Given the description of an element on the screen output the (x, y) to click on. 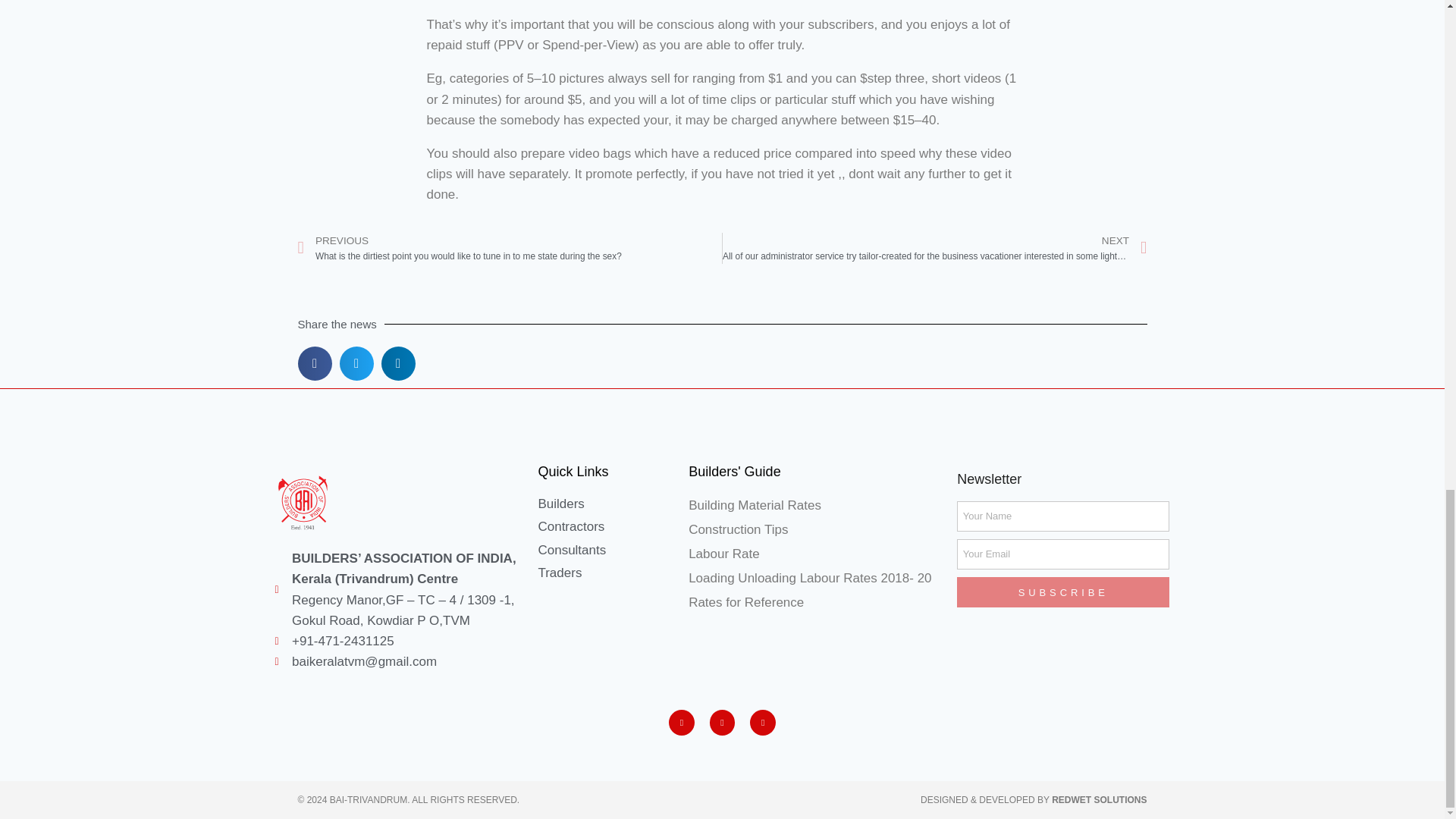
Construction Tips (818, 529)
Rates for Reference (818, 602)
Consultants (612, 549)
Building Material Rates (818, 505)
Builders (612, 503)
Loading Unloading Labour Rates 2018- 20 (818, 578)
Contractors (612, 526)
Traders (612, 572)
Labour Rate (818, 554)
